Given the description of an element on the screen output the (x, y) to click on. 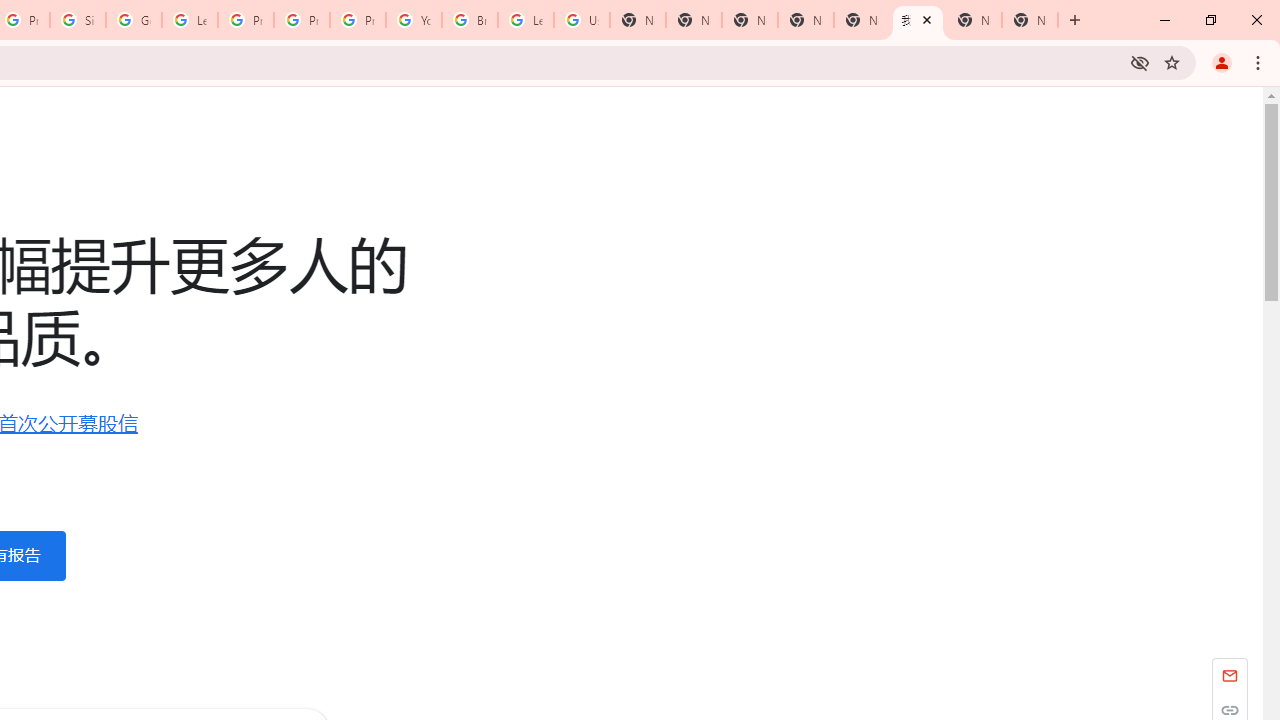
New Tab (1030, 20)
Sign in - Google Accounts (77, 20)
Privacy Help Center - Policies Help (301, 20)
